Given the description of an element on the screen output the (x, y) to click on. 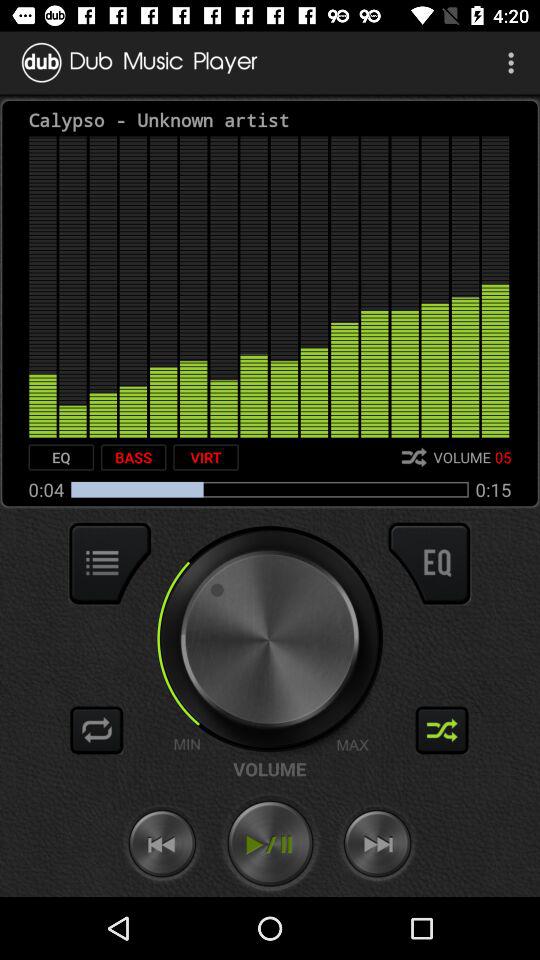
toggle play or pause option (269, 844)
